Given the description of an element on the screen output the (x, y) to click on. 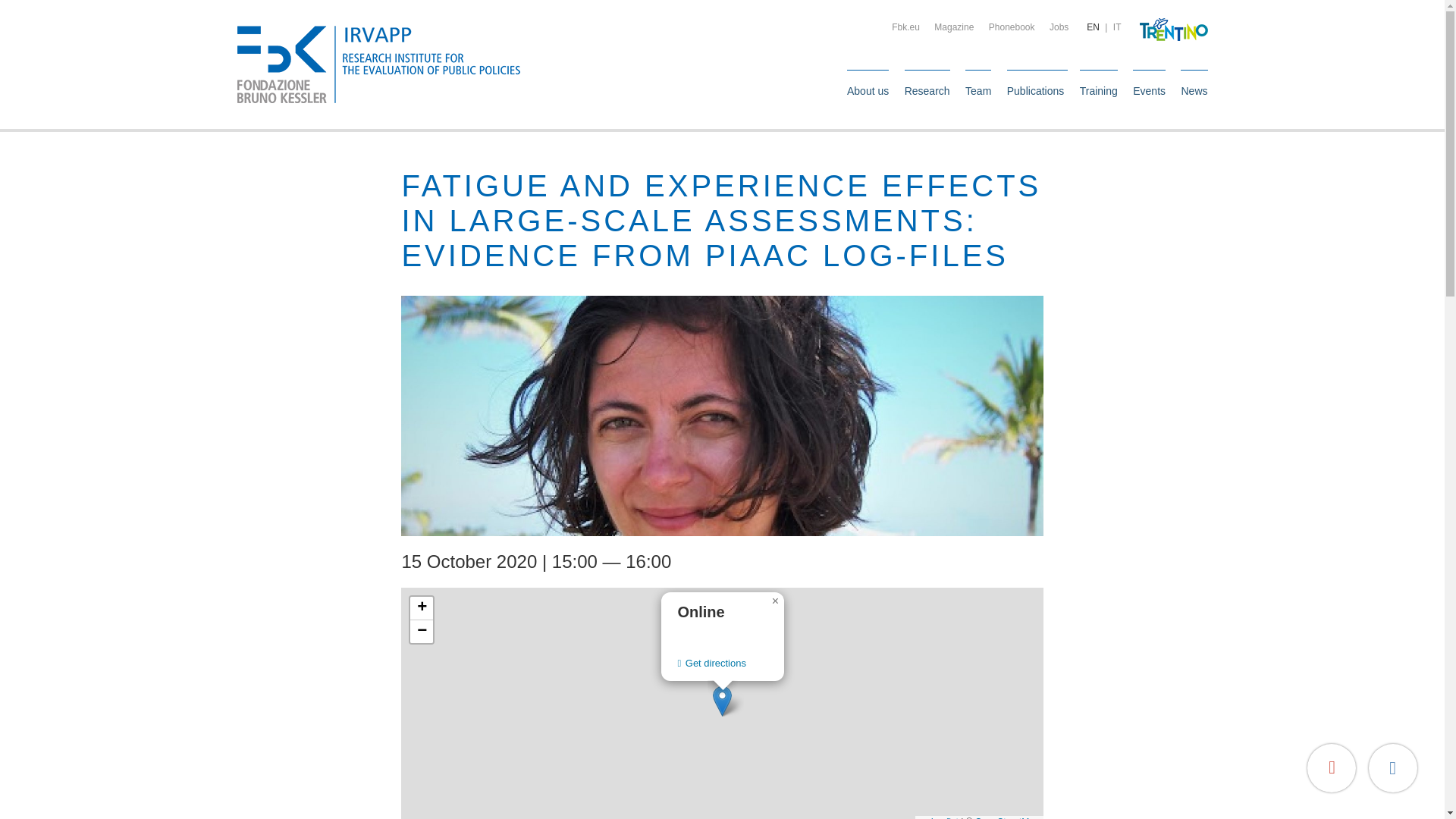
EN (1092, 27)
Research (927, 90)
Fbk.eu (905, 27)
Share the link to this page (1392, 767)
About us (867, 90)
A JavaScript library for interactive maps (938, 817)
English (1092, 27)
Training (1099, 90)
Phonebook (1011, 27)
Zoom in (421, 608)
Magazine (954, 27)
Save this event on a calendar (1331, 767)
Jobs (1058, 27)
Zoom out (421, 630)
Publications (1035, 90)
